Given the description of an element on the screen output the (x, y) to click on. 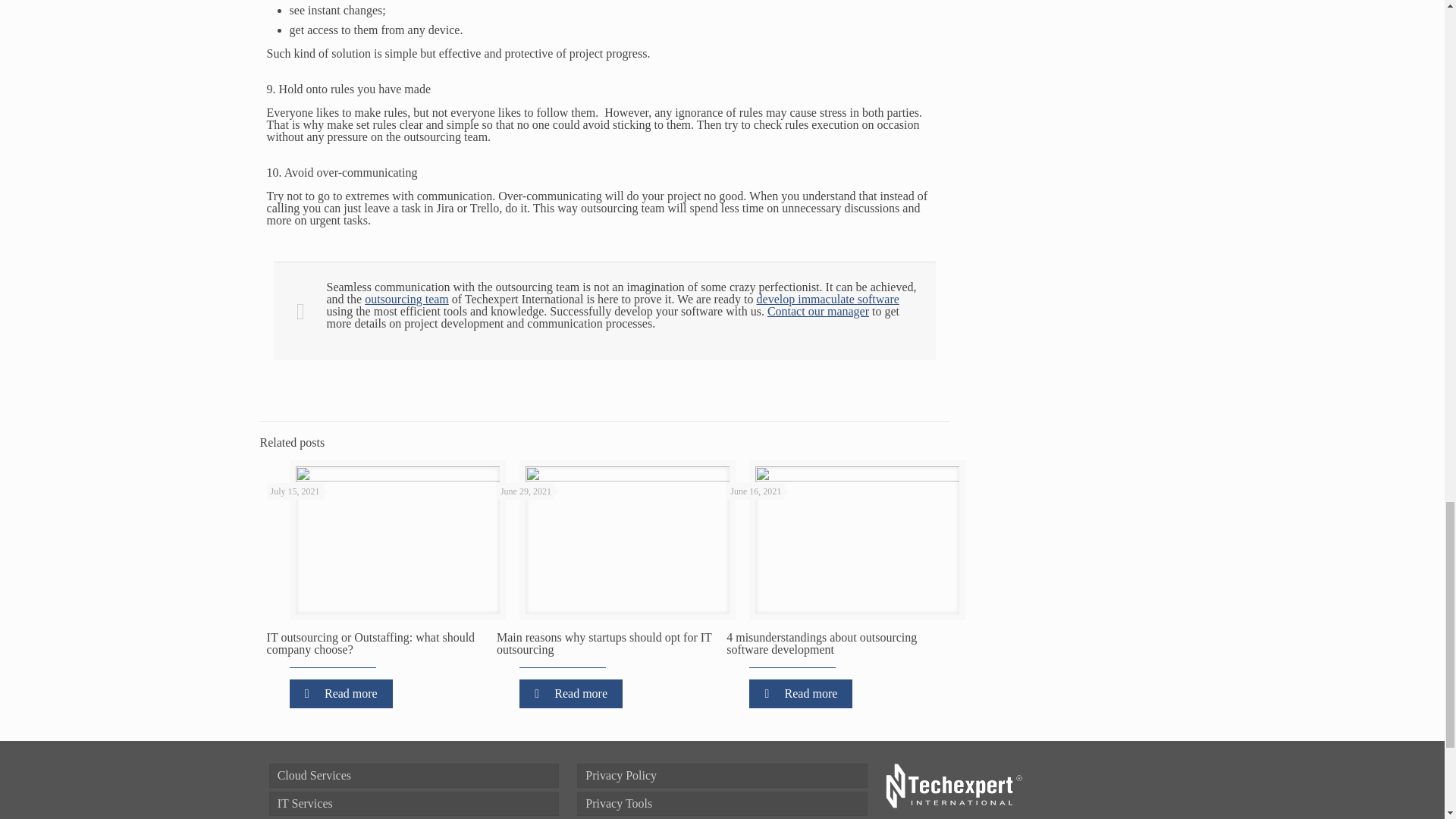
develop immaculate software (828, 298)
Read more (341, 693)
outsourcing team (406, 298)
Contact our manager (818, 310)
IT outsourcing or Outstaffing: what should company choose? (371, 643)
